Given the description of an element on the screen output the (x, y) to click on. 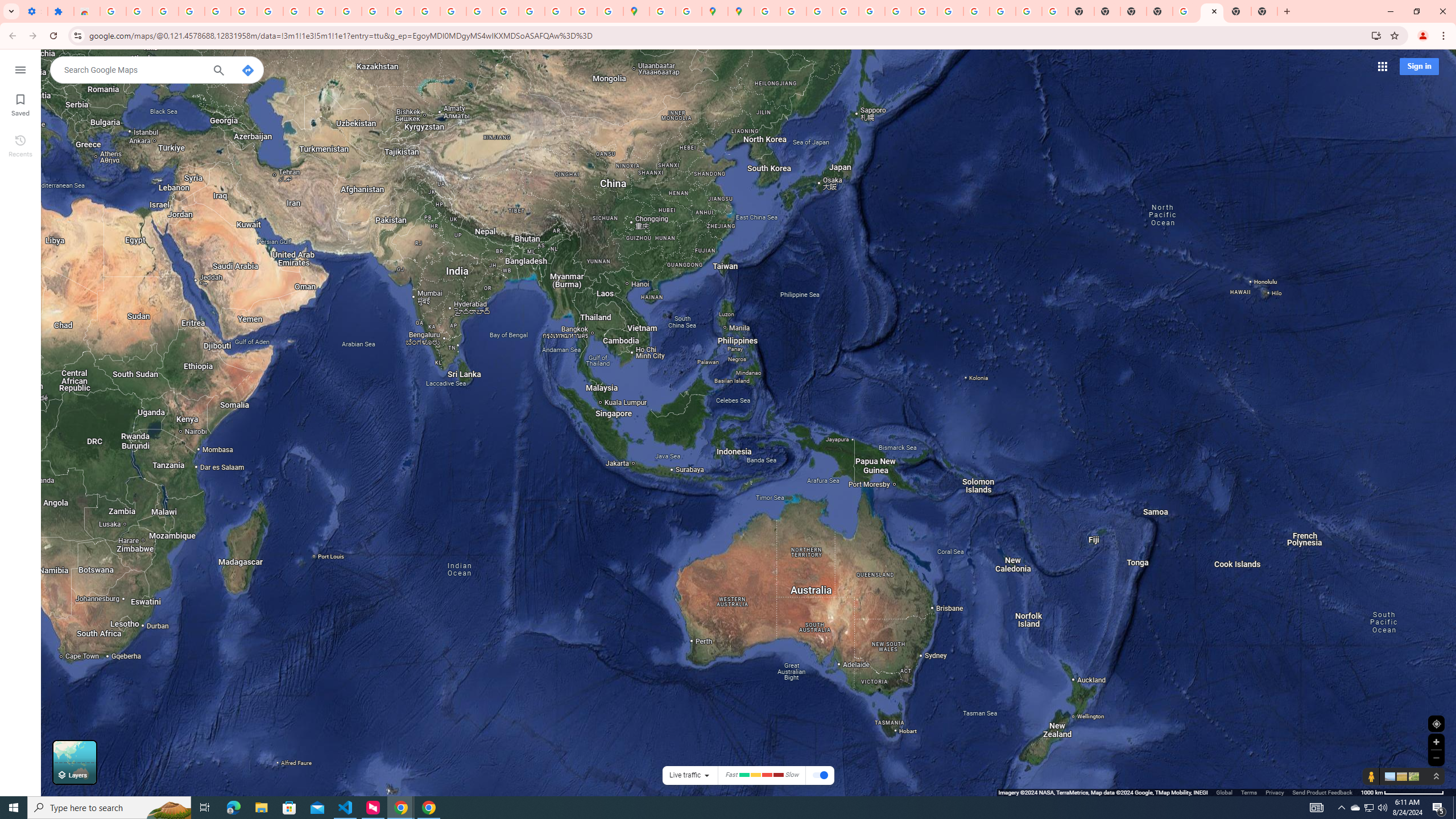
YouTube (348, 11)
Google Account Help (243, 11)
Install Google Maps (1376, 35)
Saved (20, 104)
Policy Accountability and Transparency - Transparency Center (766, 11)
Directions (247, 70)
Send Product Feedback (1322, 792)
Show imagery (1412, 776)
